Given the description of an element on the screen output the (x, y) to click on. 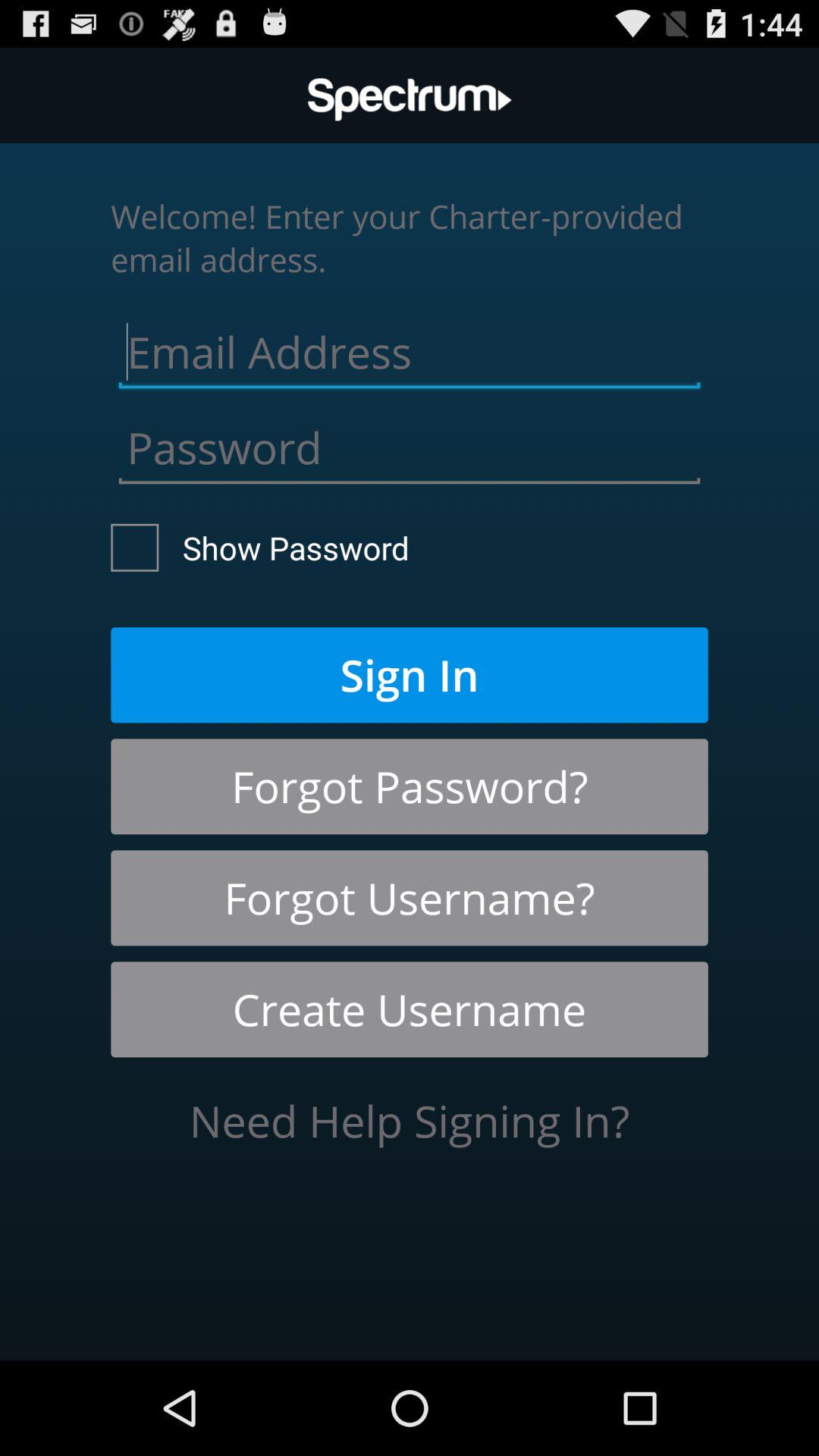
launch welcome enter your icon (409, 237)
